Given the description of an element on the screen output the (x, y) to click on. 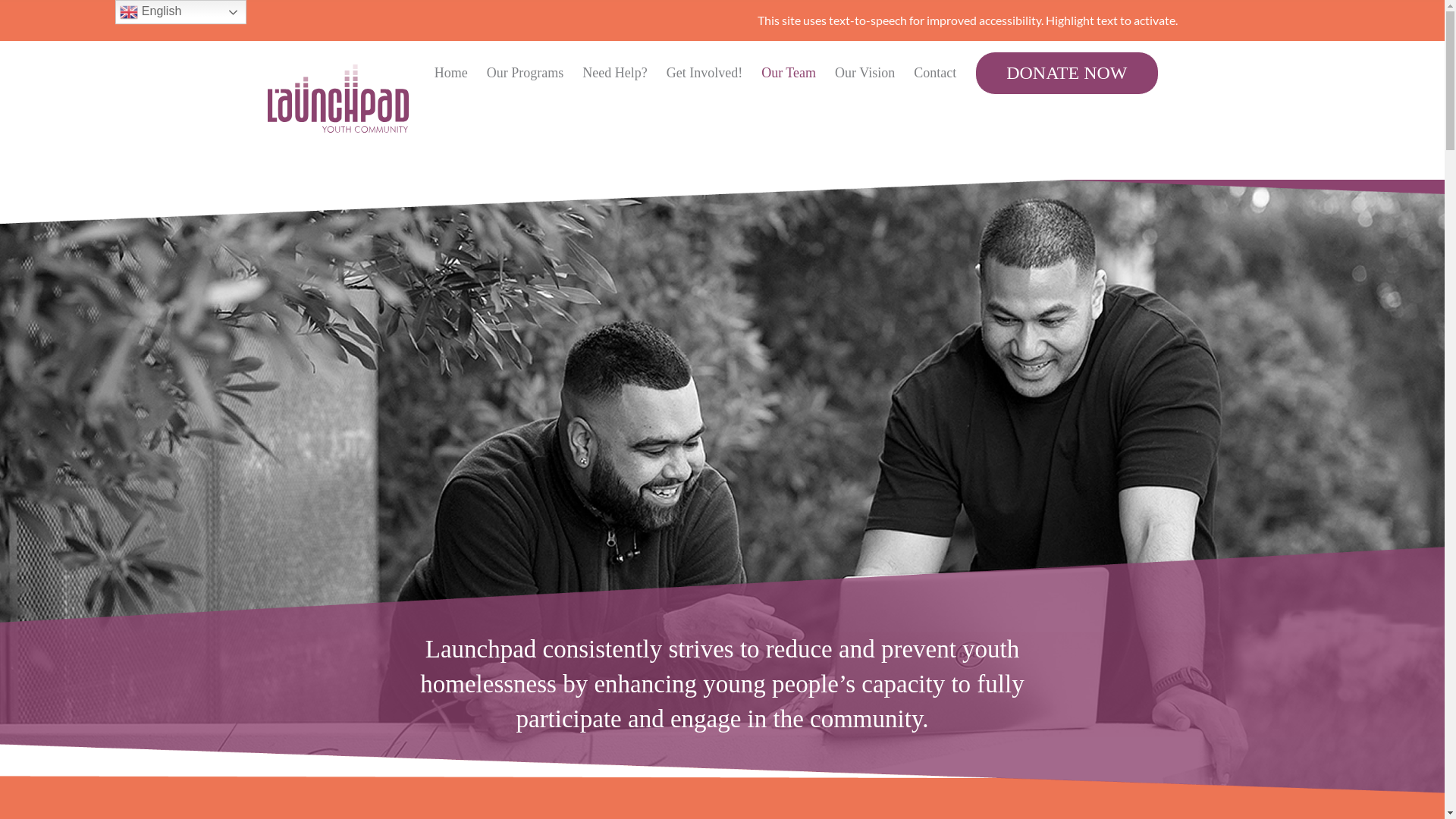
Home Element type: text (450, 72)
Contact Element type: text (934, 72)
Our Team Element type: text (788, 72)
English Element type: text (180, 12)
Our Programs Element type: text (525, 72)
Get Involved! Element type: text (704, 72)
Our Vision Element type: text (864, 72)
DONATE NOW Element type: text (1066, 72)
Need Help? Element type: text (614, 72)
